Given the description of an element on the screen output the (x, y) to click on. 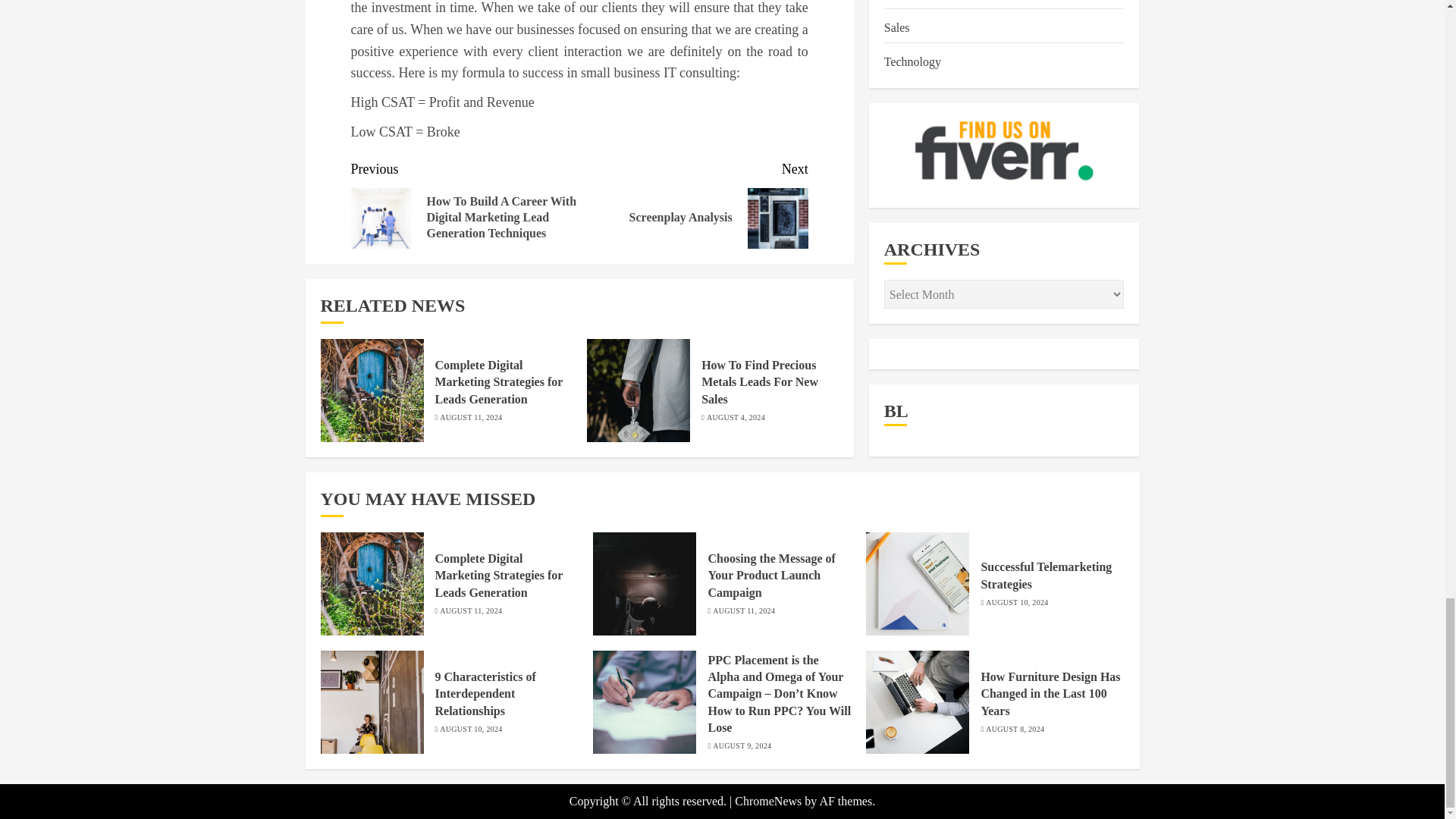
How To Find Precious Metals Leads For New Sales (638, 390)
9 Characteristics of Interdependent Relationships (371, 701)
How Furniture Design Has Changed in the Last 100 Years (917, 701)
Choosing the Message of Your Product Launch Campaign (643, 583)
Successful Telemarketing Strategies (917, 583)
Complete Digital Marketing Strategies for Leads Generation (371, 583)
AUGUST 11, 2024 (693, 203)
AUGUST 4, 2024 (470, 417)
